Given the description of an element on the screen output the (x, y) to click on. 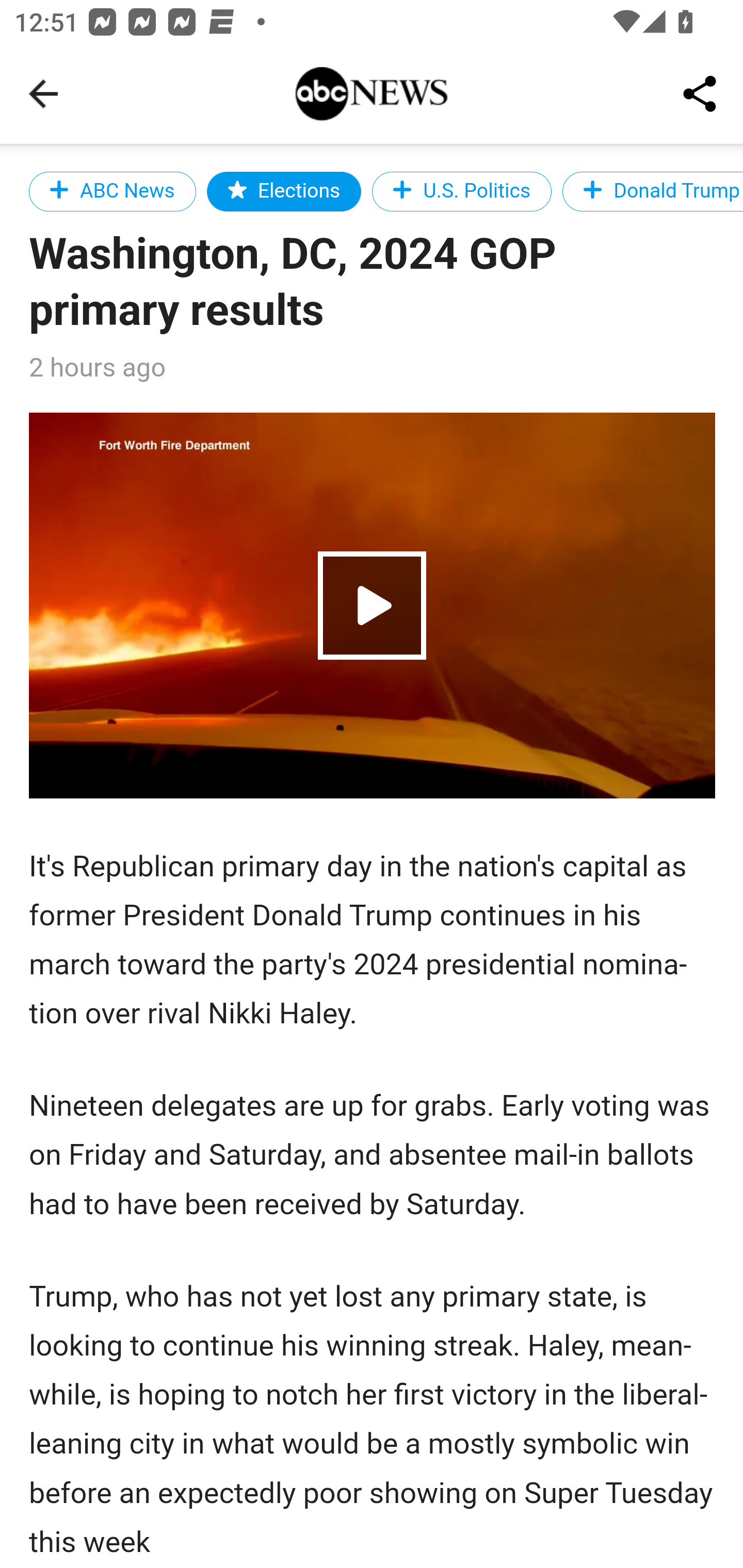
ABC News (112, 191)
Elections (283, 191)
U.S. Politics (462, 191)
Donald Trump (652, 191)
Play Video (372, 604)
